Given the description of an element on the screen output the (x, y) to click on. 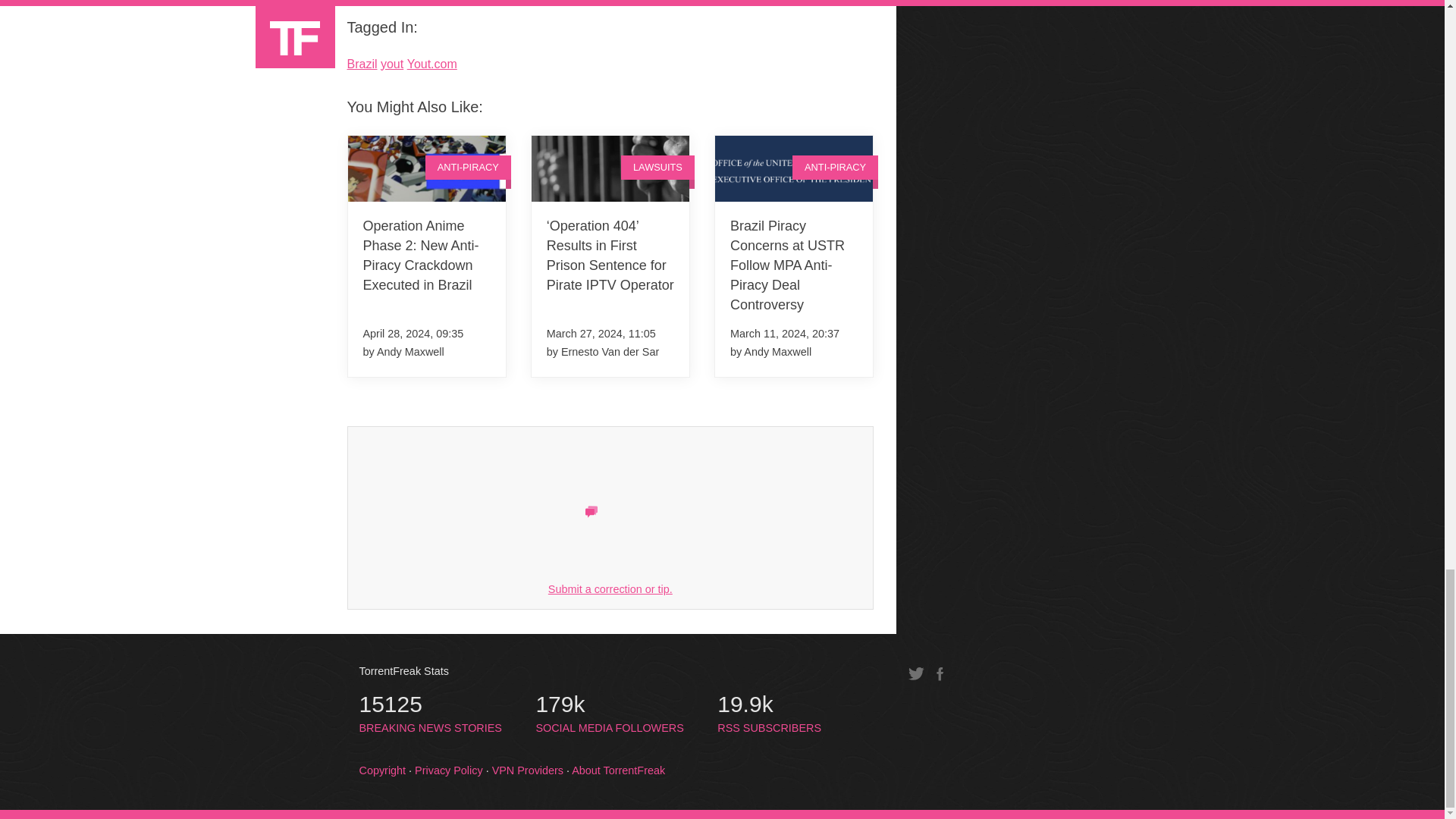
Brazil (362, 63)
Submit a correction or tip. (610, 589)
Yout.com (432, 63)
yout (391, 63)
